Given the description of an element on the screen output the (x, y) to click on. 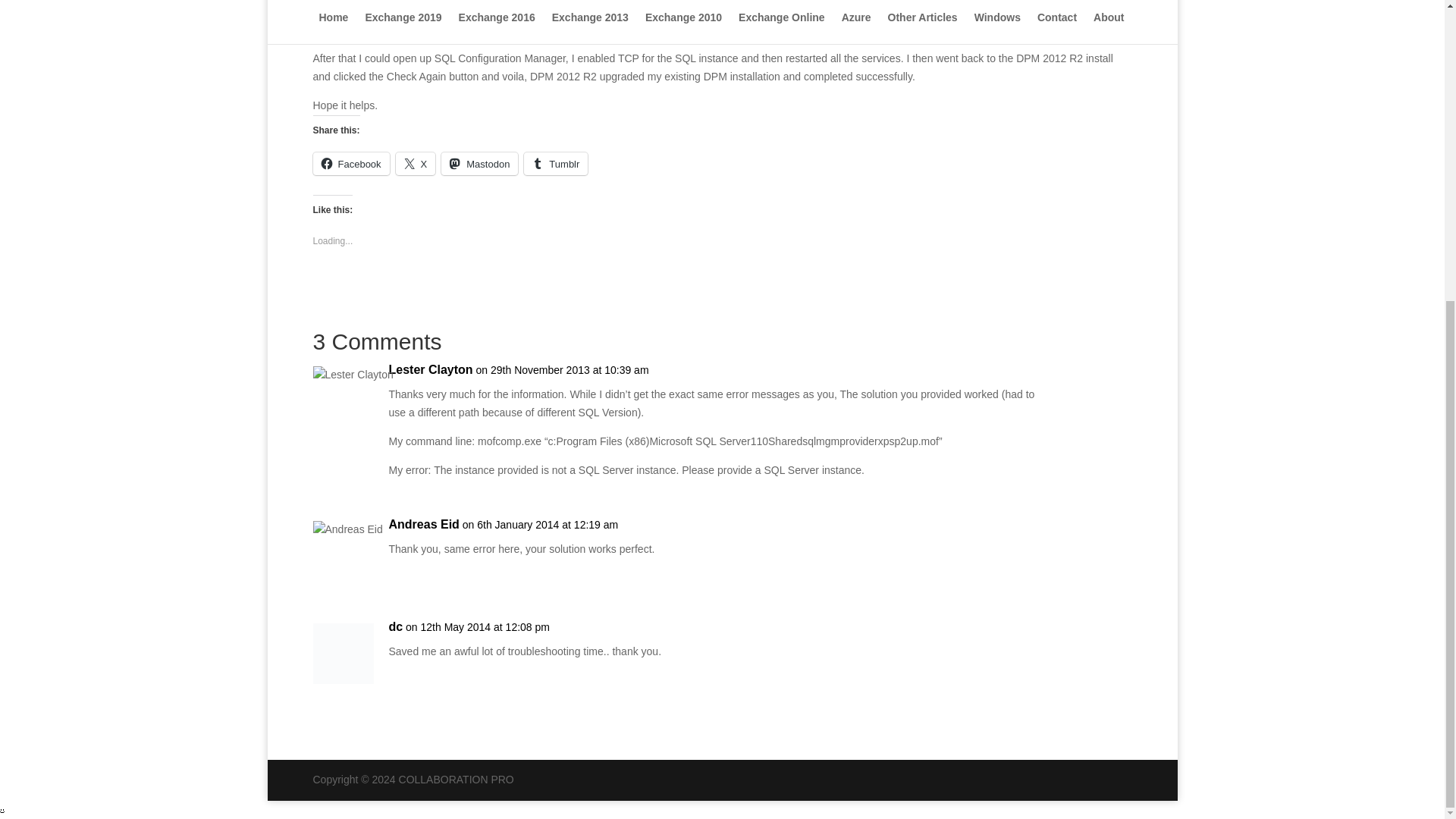
Mastodon (479, 163)
Click to share on Facebook (350, 163)
Lester Clayton (429, 370)
Facebook (350, 163)
Tumblr (556, 163)
Click to share on Mastodon (479, 163)
X (415, 163)
Click to share on X (415, 163)
Click to share on Tumblr (556, 163)
